Given the description of an element on the screen output the (x, y) to click on. 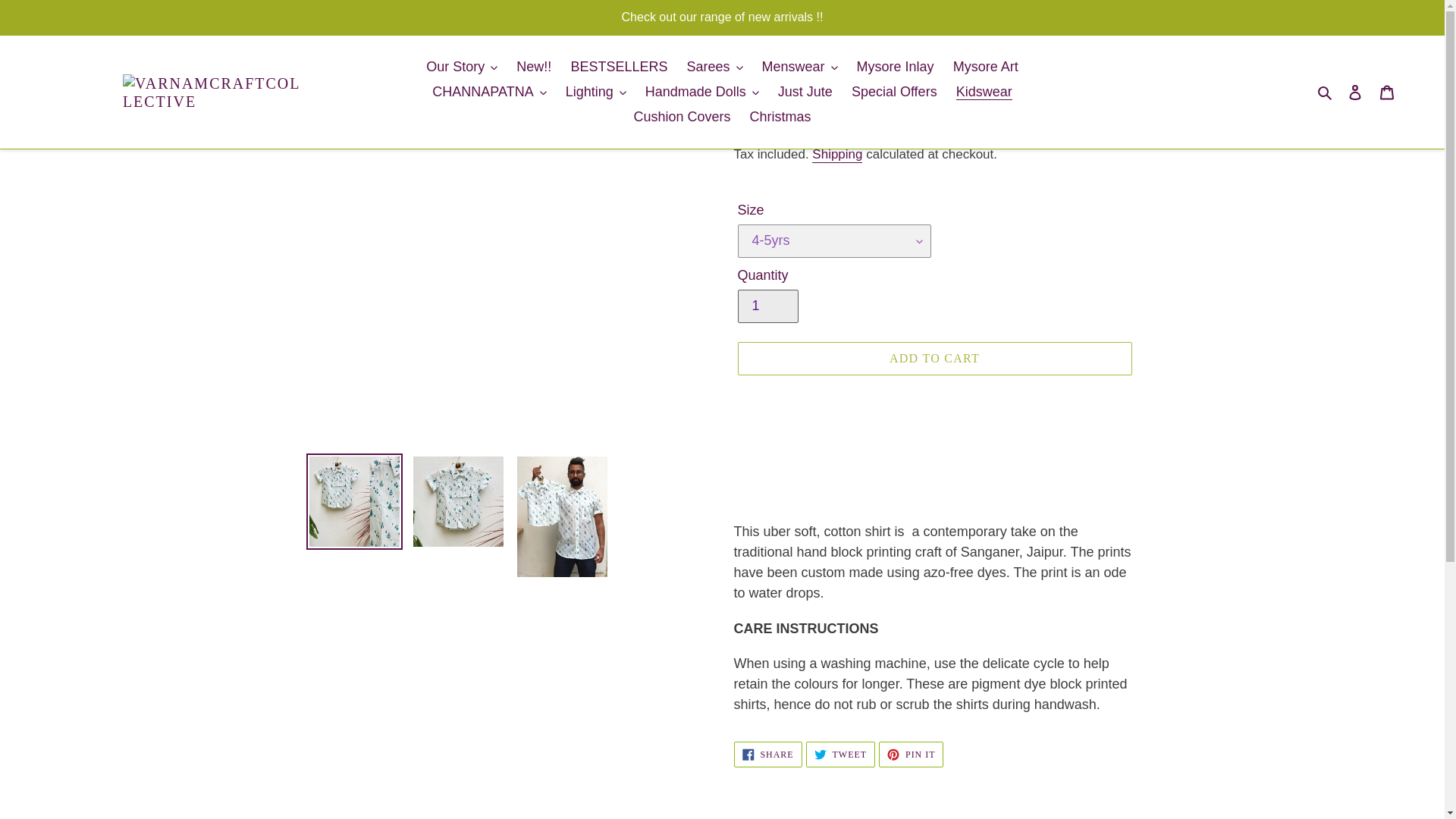
Our Story (462, 66)
Mysore Inlay (895, 66)
New!! (533, 66)
Mysore Art (985, 66)
1 (766, 305)
Sarees (713, 66)
Menswear (799, 66)
CHANNAPATNA (489, 91)
BESTSELLERS (618, 66)
